Given the description of an element on the screen output the (x, y) to click on. 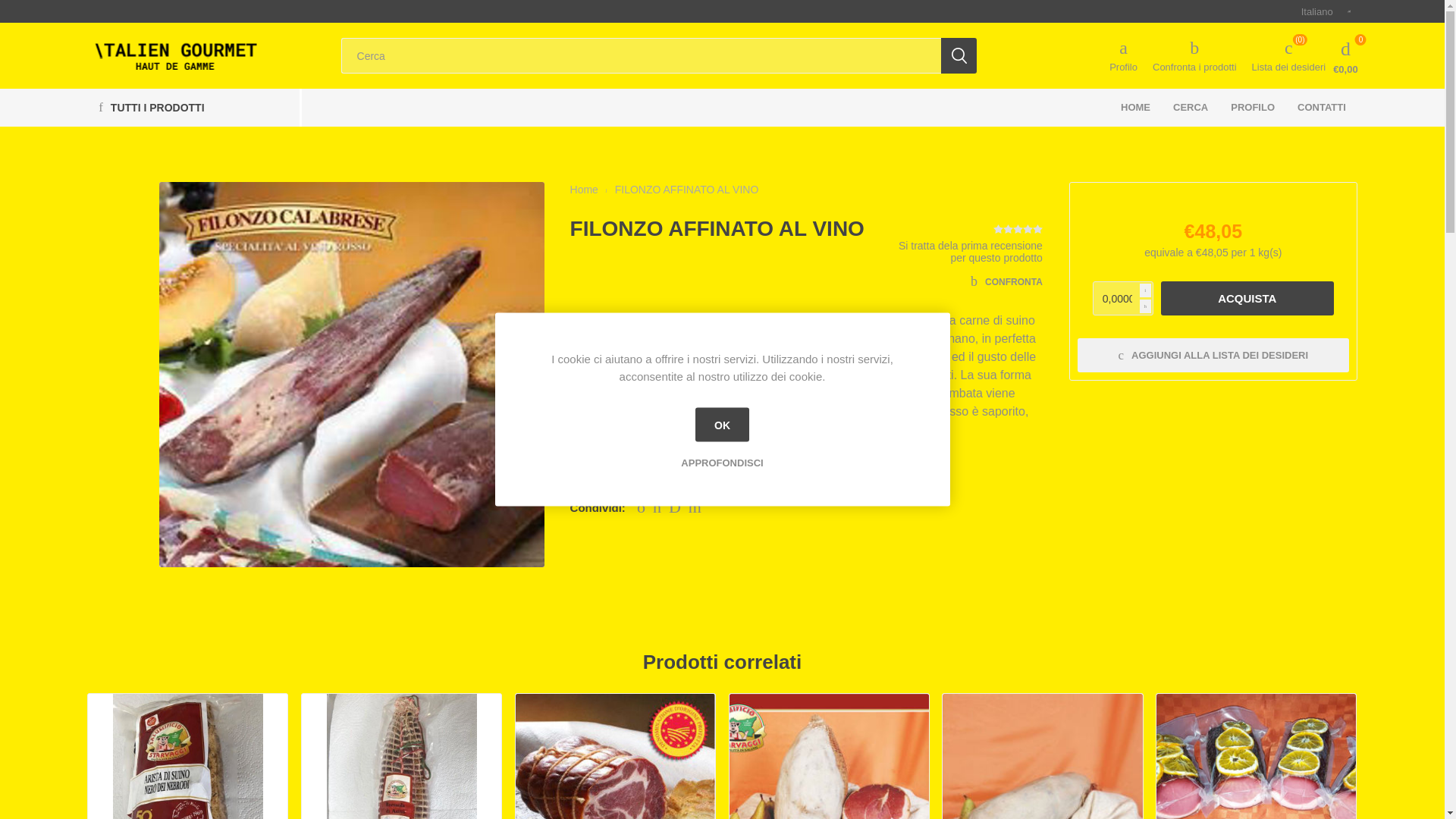
Italien Gourmet s.n. (174, 54)
Acquista (1246, 298)
Cerca (958, 55)
Visualizza i dettagli per BRESAOLA D'ASINO (400, 756)
Visualizza i dettagli per BRESAOLA D'ASINO (401, 756)
Cerca (958, 55)
Invia ad un amico (696, 505)
Accesso (1123, 252)
Cerca (958, 55)
Confronta i prodotti (1194, 54)
0,0000 (1123, 298)
